Given the description of an element on the screen output the (x, y) to click on. 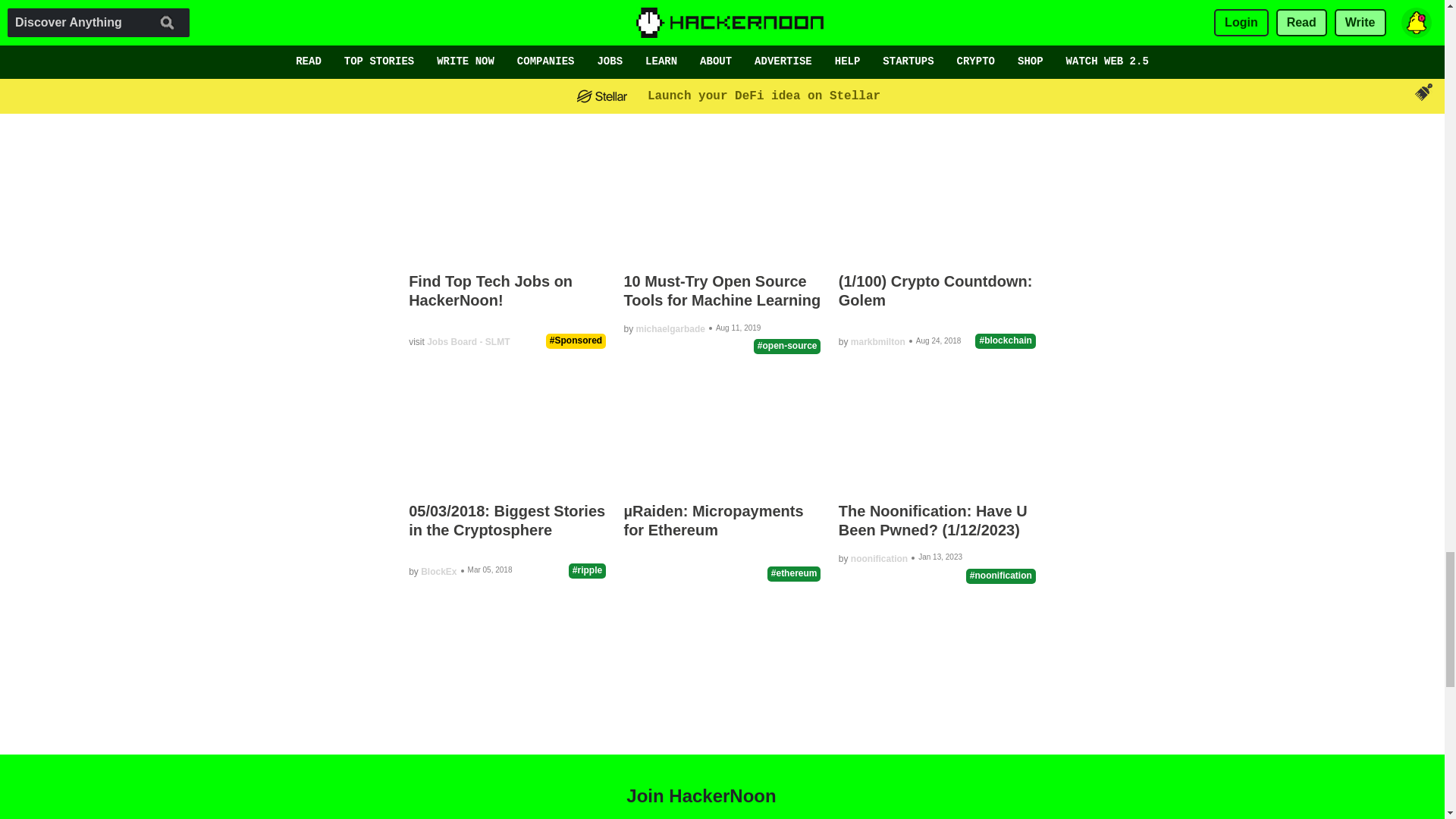
Tether (462, 22)
Litecoin (530, 22)
Chain (598, 22)
fees (724, 22)
